Given the description of an element on the screen output the (x, y) to click on. 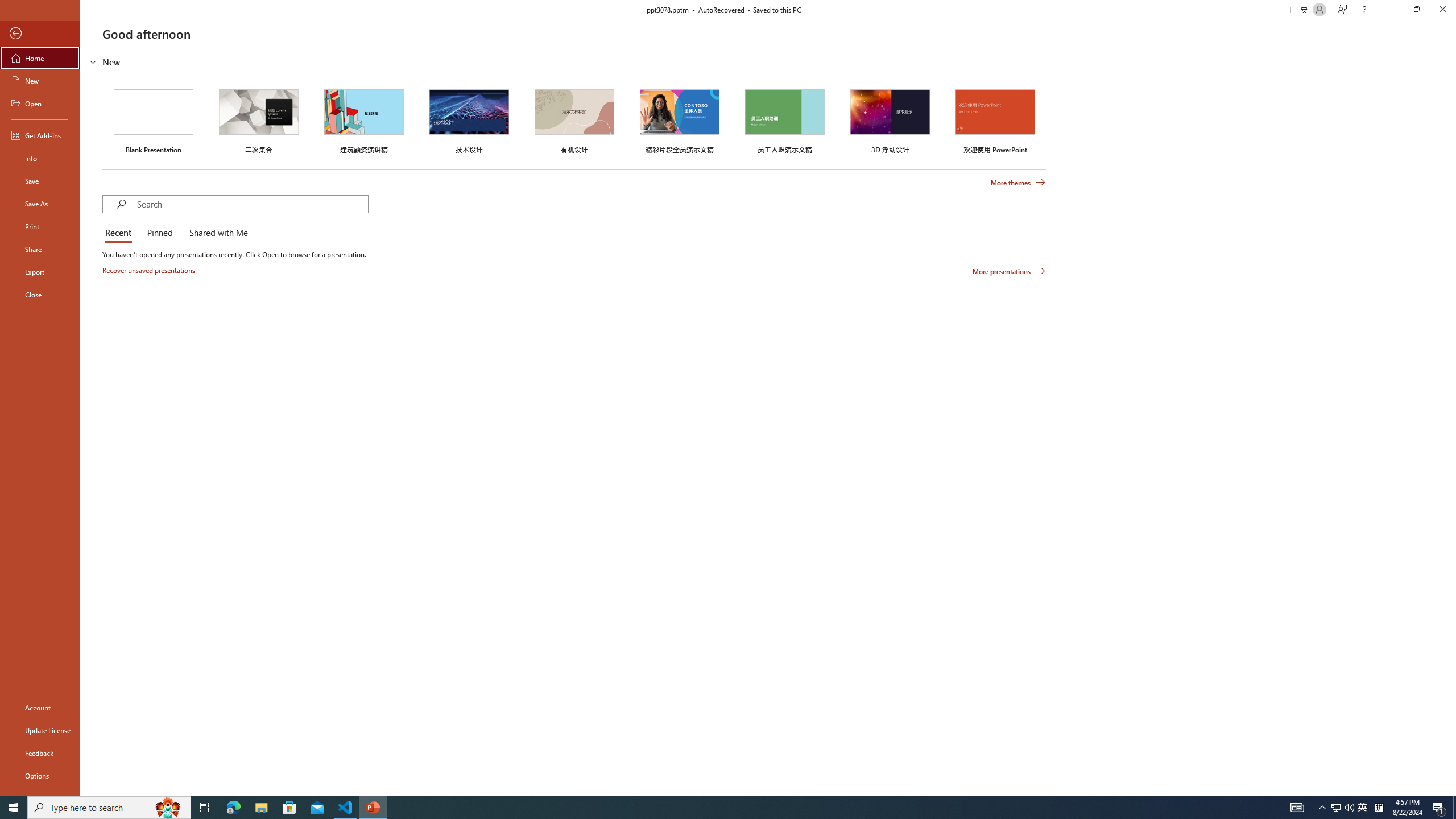
Recent (119, 233)
Shared with Me (215, 233)
Back (40, 33)
Hide or show region (92, 61)
